Given the description of an element on the screen output the (x, y) to click on. 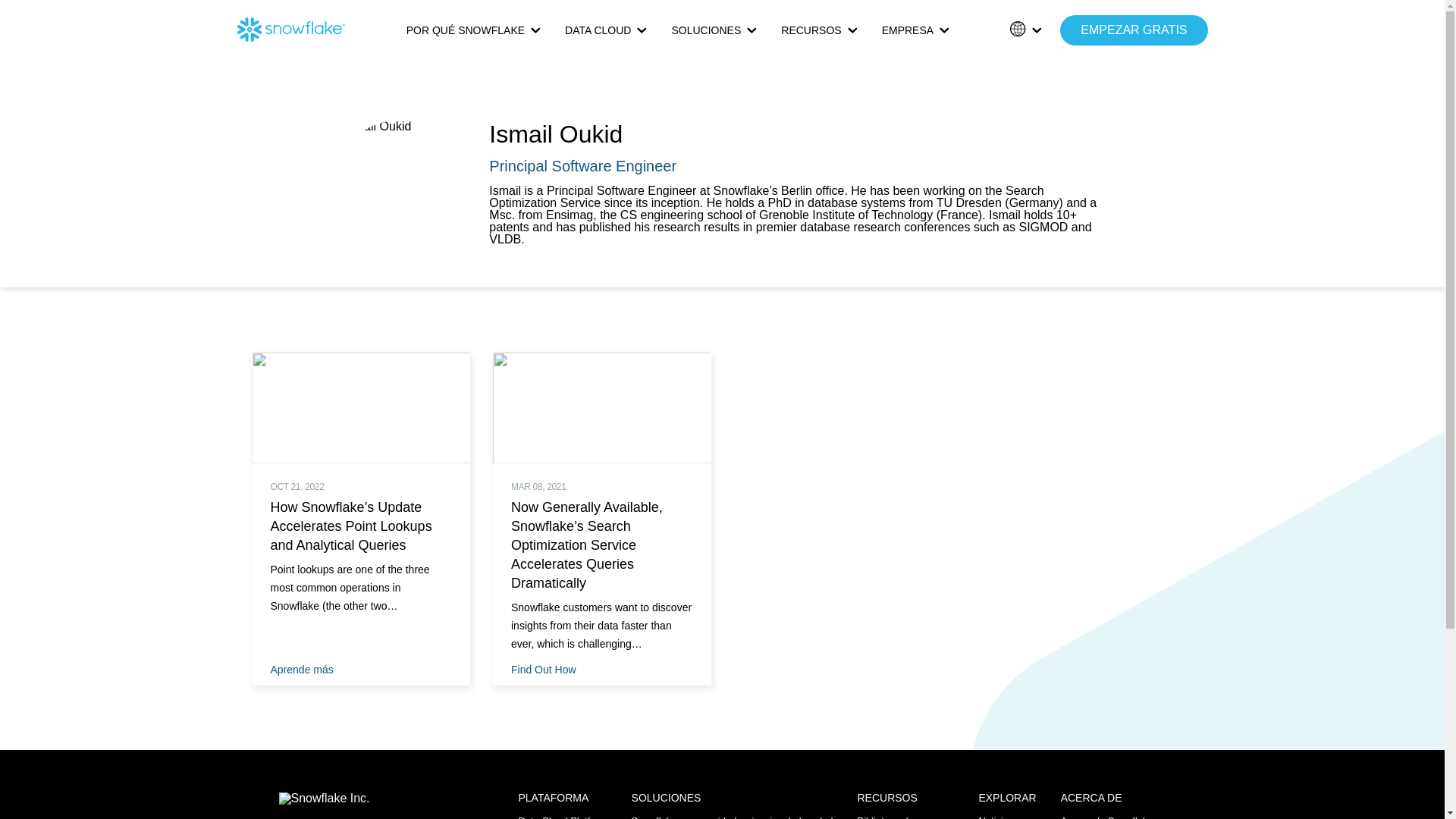
SOLUCIONES (713, 30)
RECURSOS (818, 30)
DATA CLOUD (606, 30)
EMPRESA (914, 30)
